Given the description of an element on the screen output the (x, y) to click on. 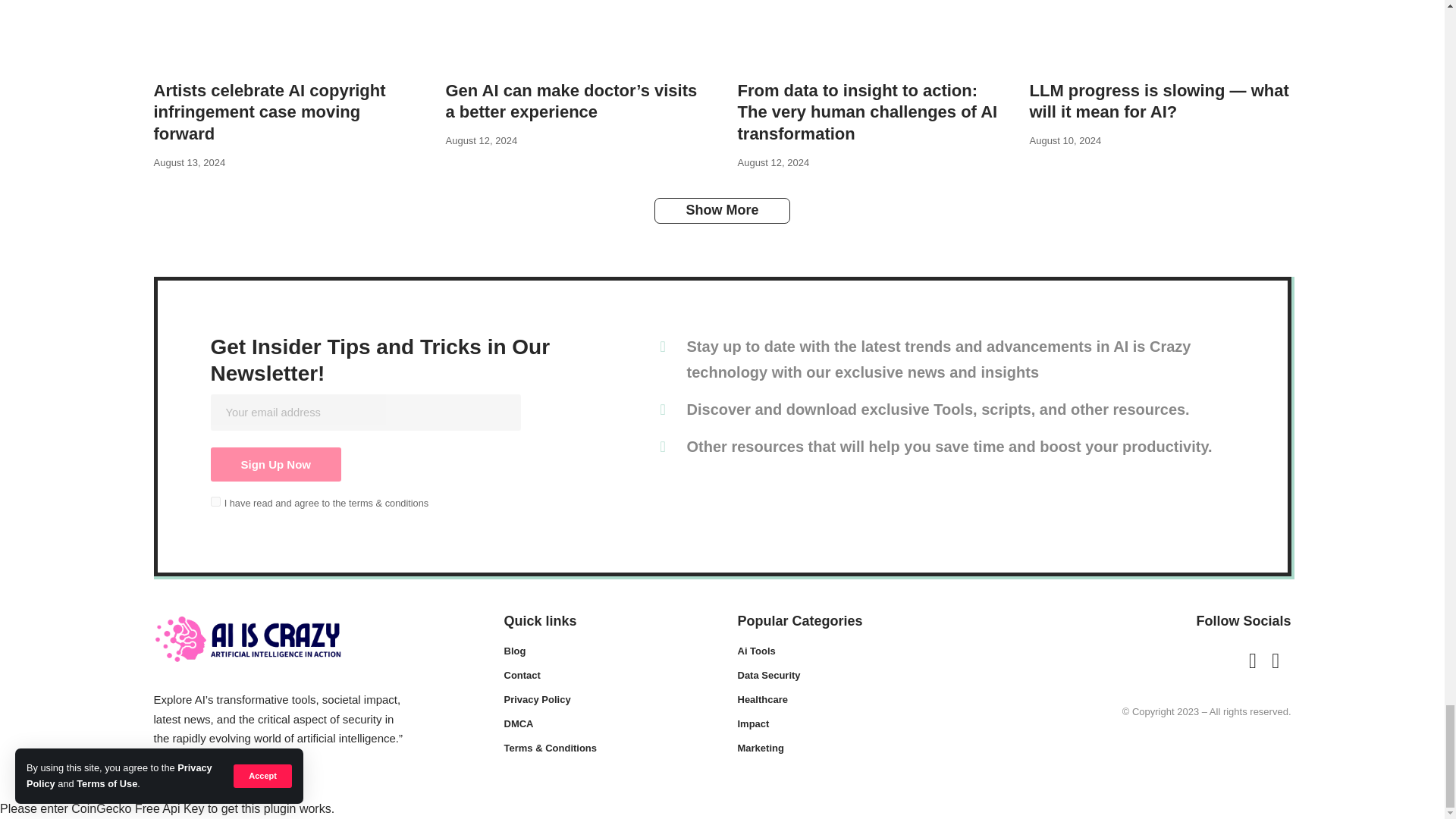
1 (216, 501)
Sign Up Now (276, 464)
